Given the description of an element on the screen output the (x, y) to click on. 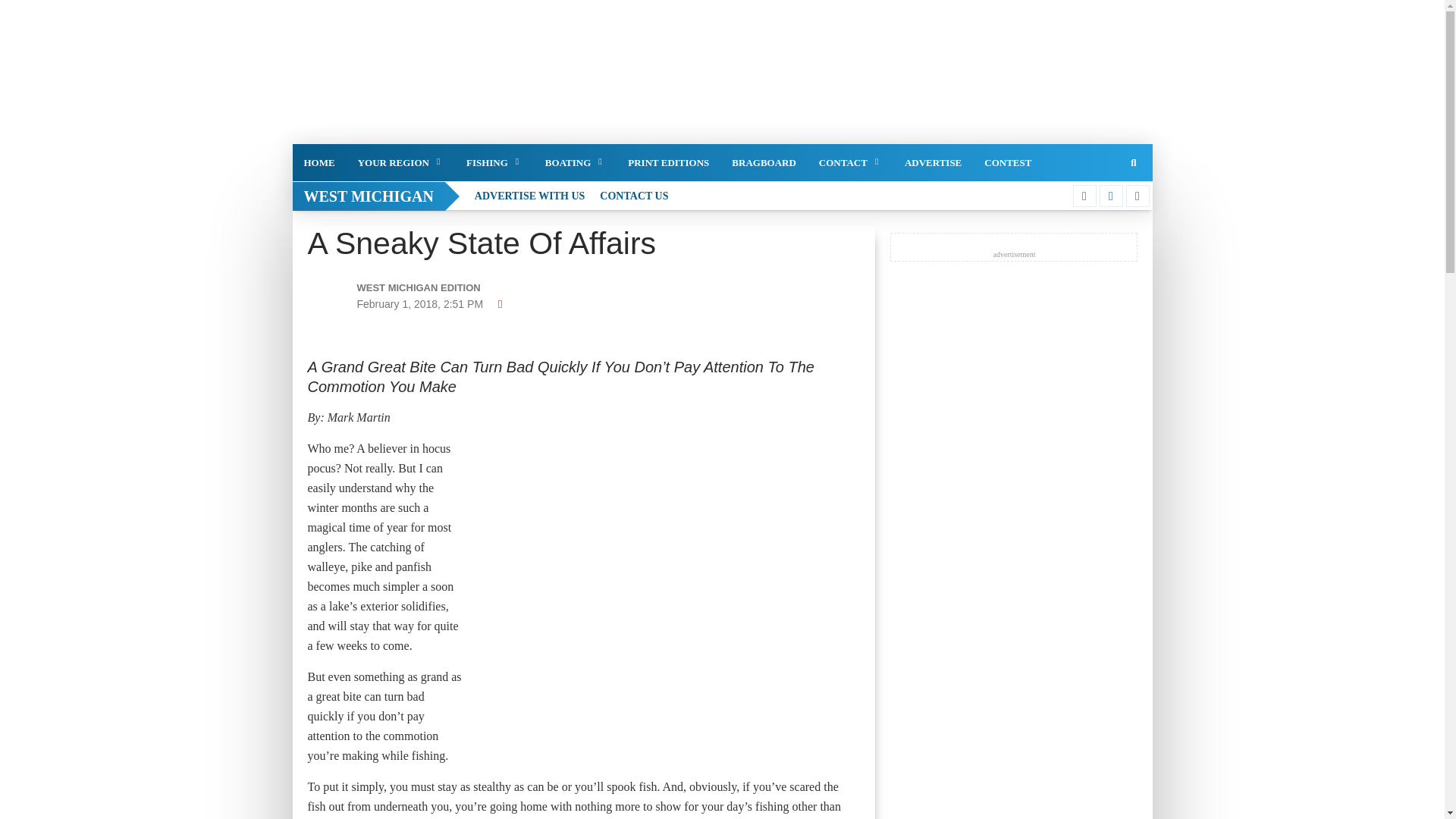
YOUR REGION (400, 162)
HOME (319, 162)
View all posts by West Michigan Edition (442, 287)
FISHING (494, 162)
